Given the description of an element on the screen output the (x, y) to click on. 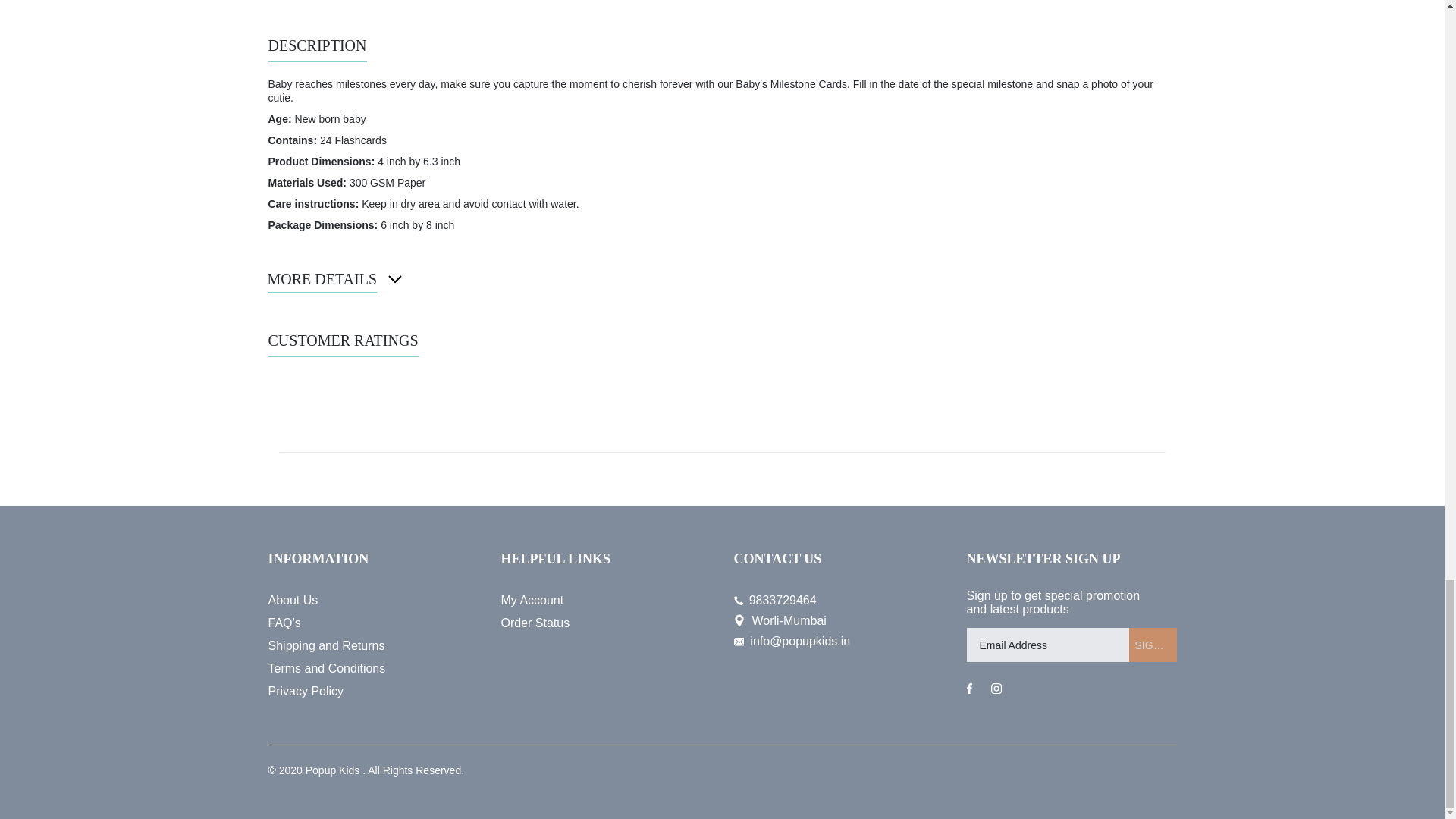
My Account (605, 599)
Sign up (1152, 644)
 Shipping and Returns (373, 645)
Order Status (605, 622)
Terms and Conditions (373, 668)
Privacy Policy (373, 691)
About Us (373, 599)
